Given the description of an element on the screen output the (x, y) to click on. 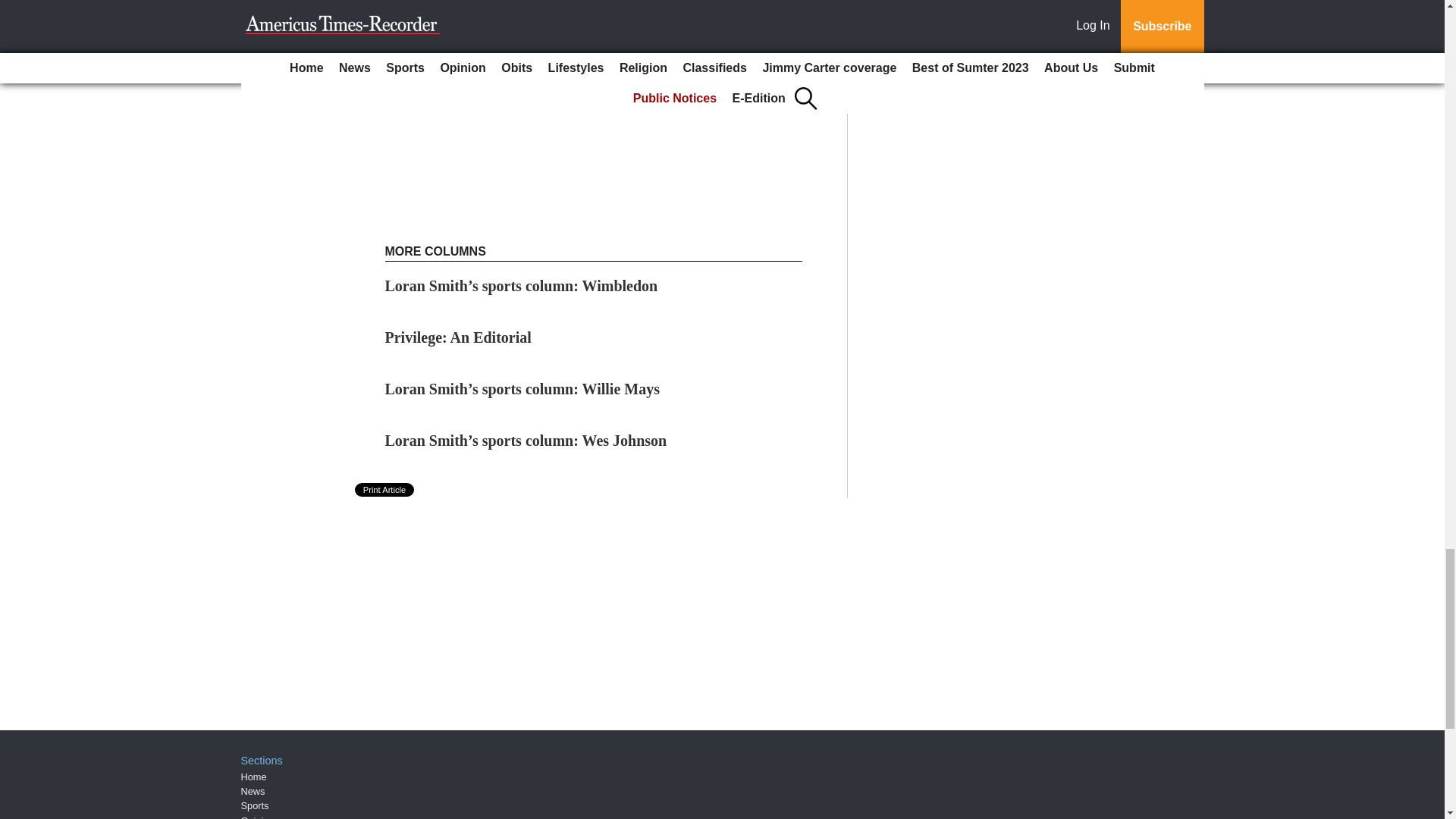
Opinion (258, 816)
Sports (255, 805)
Print Article (384, 489)
Home (253, 776)
Privilege: An Editorial (458, 337)
News (252, 790)
Privilege: An Editorial (458, 337)
